Given the description of an element on the screen output the (x, y) to click on. 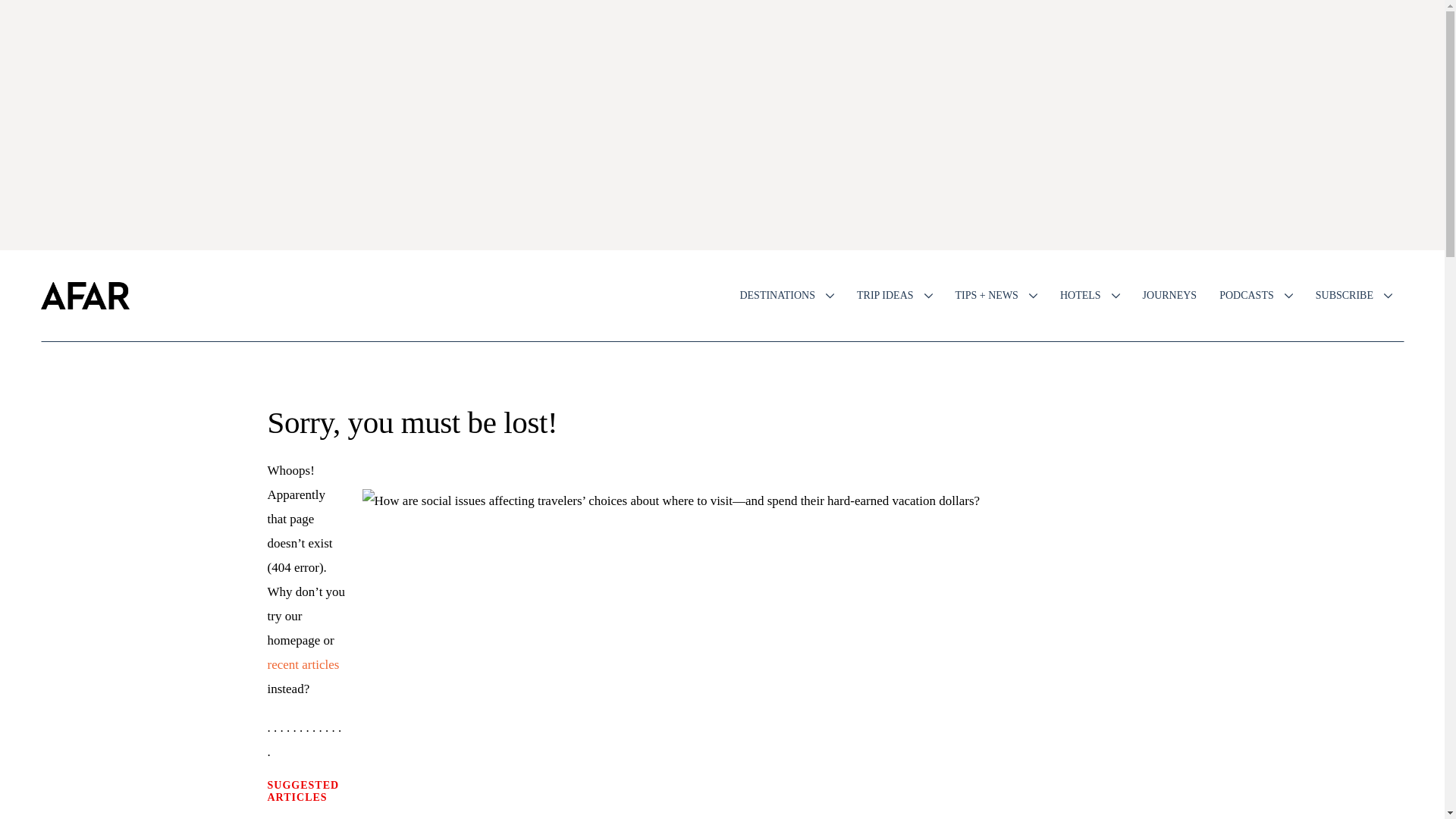
3rd party ad content (721, 124)
